Given the description of an element on the screen output the (x, y) to click on. 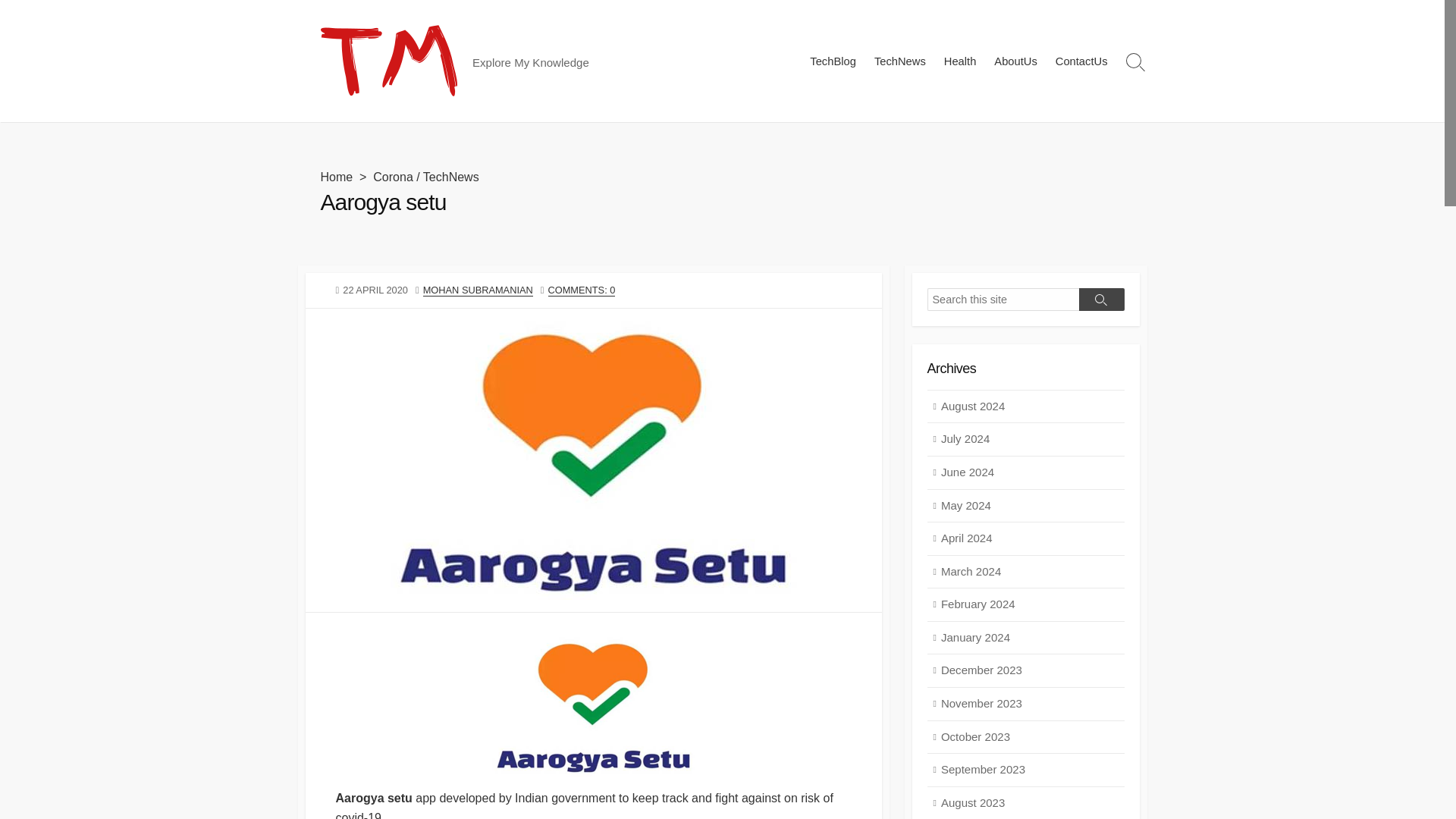
TechNews (451, 176)
Posts by Mohan Subramanian (477, 289)
COMMENTS: 0 (581, 289)
Corona (392, 176)
Home (336, 176)
Tech Mohan (388, 60)
Health (959, 61)
ContactUs (1081, 61)
AboutUs (1015, 61)
MOHAN SUBRAMANIAN (477, 289)
